Given the description of an element on the screen output the (x, y) to click on. 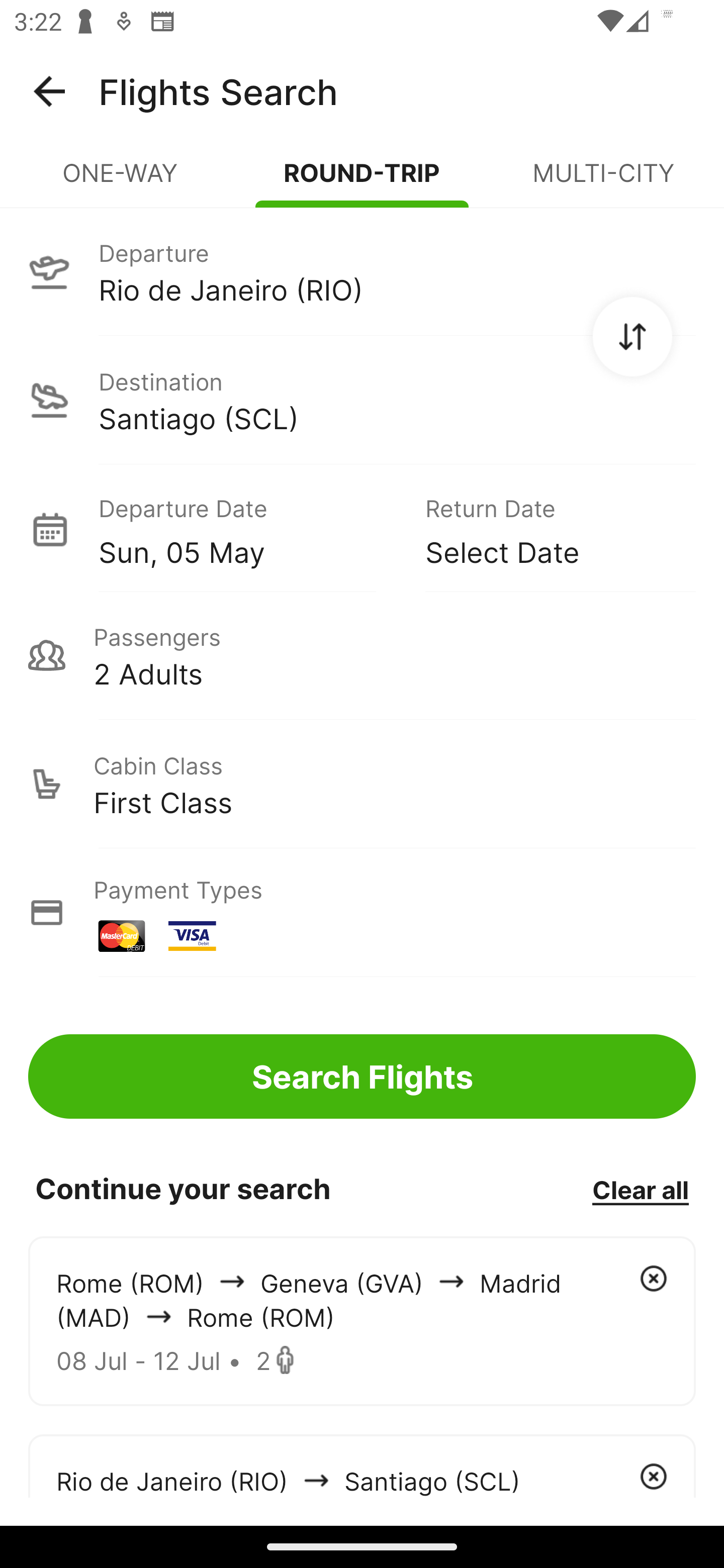
ONE-WAY (120, 180)
ROUND-TRIP (361, 180)
MULTI-CITY (603, 180)
Departure Rio de Janeiro (RIO) (362, 270)
Destination Santiago (SCL) (362, 400)
Departure Date Sun, 05 May (247, 528)
Return Date Select Date (546, 528)
Passengers 2 Adults (362, 655)
Cabin Class First Class (362, 783)
Payment Types (362, 912)
Search Flights (361, 1075)
Clear all (640, 1189)
Rio de Janeiro (RIO)  arrowIcon  Santiago (SCL) (361, 1465)
